Given the description of an element on the screen output the (x, y) to click on. 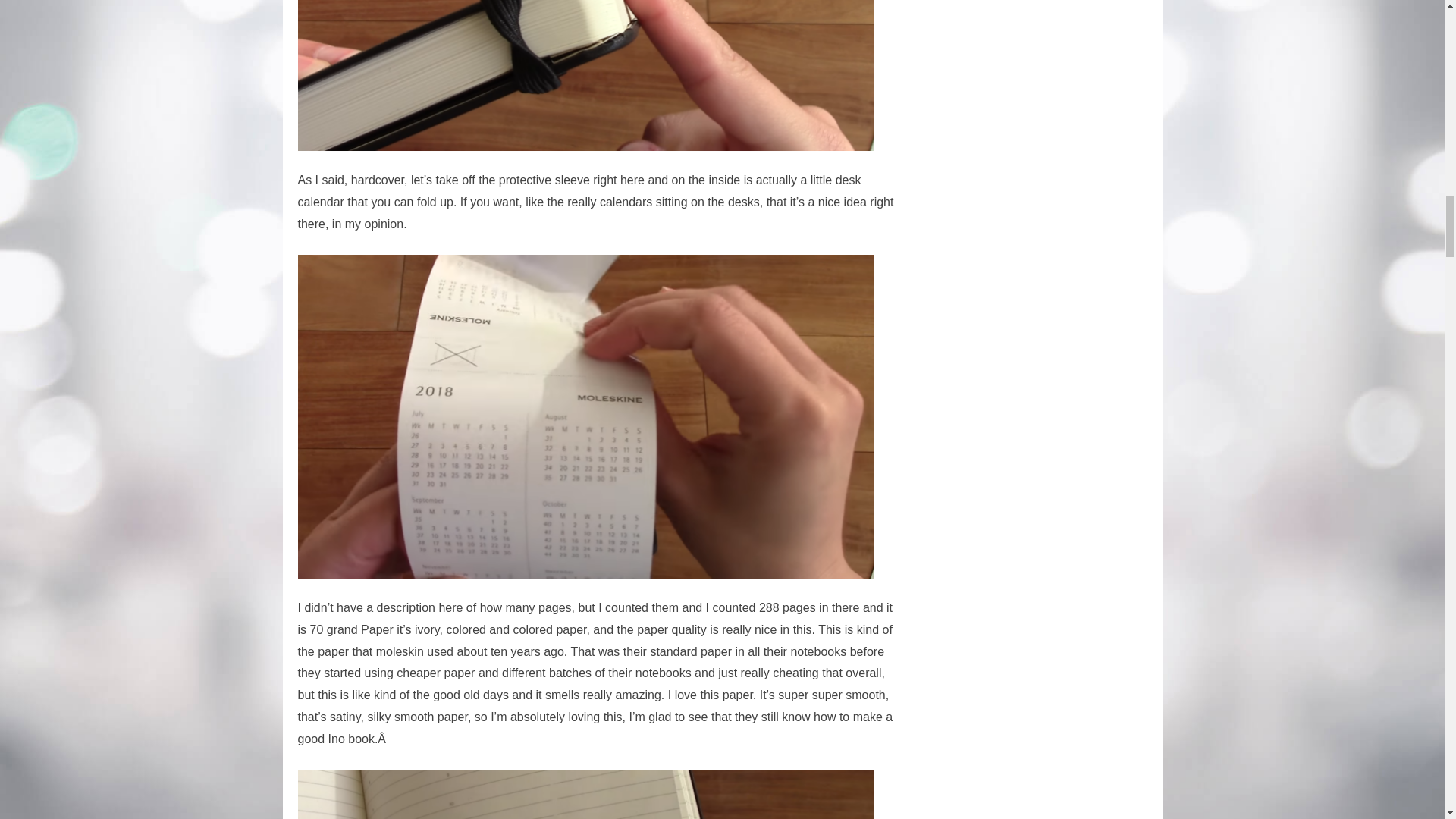
Moleskine Pro Planner Review 22 (585, 75)
Moleskine Pro Planner Review 24 (585, 794)
